Given the description of an element on the screen output the (x, y) to click on. 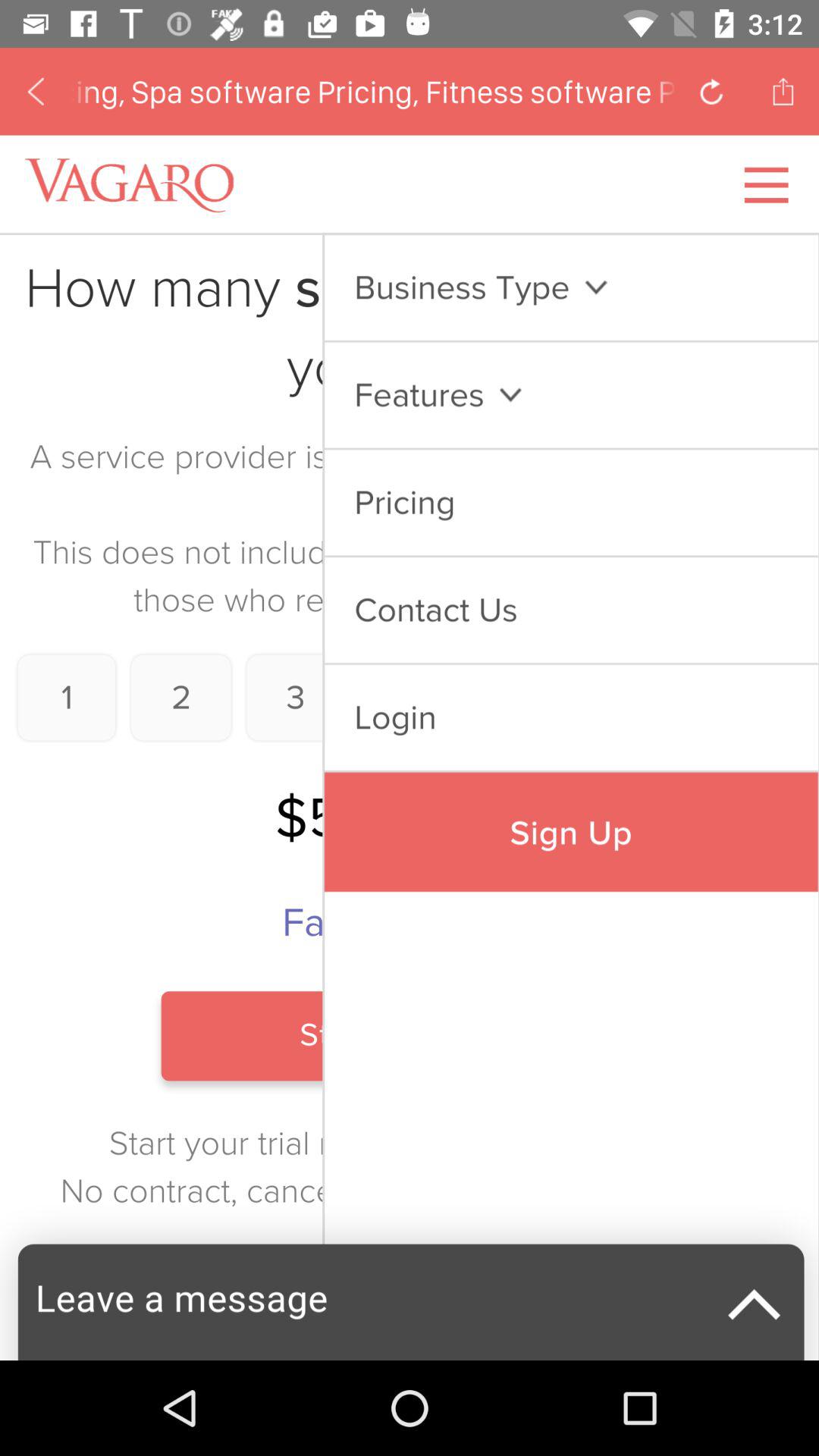
share page (783, 91)
